Given the description of an element on the screen output the (x, y) to click on. 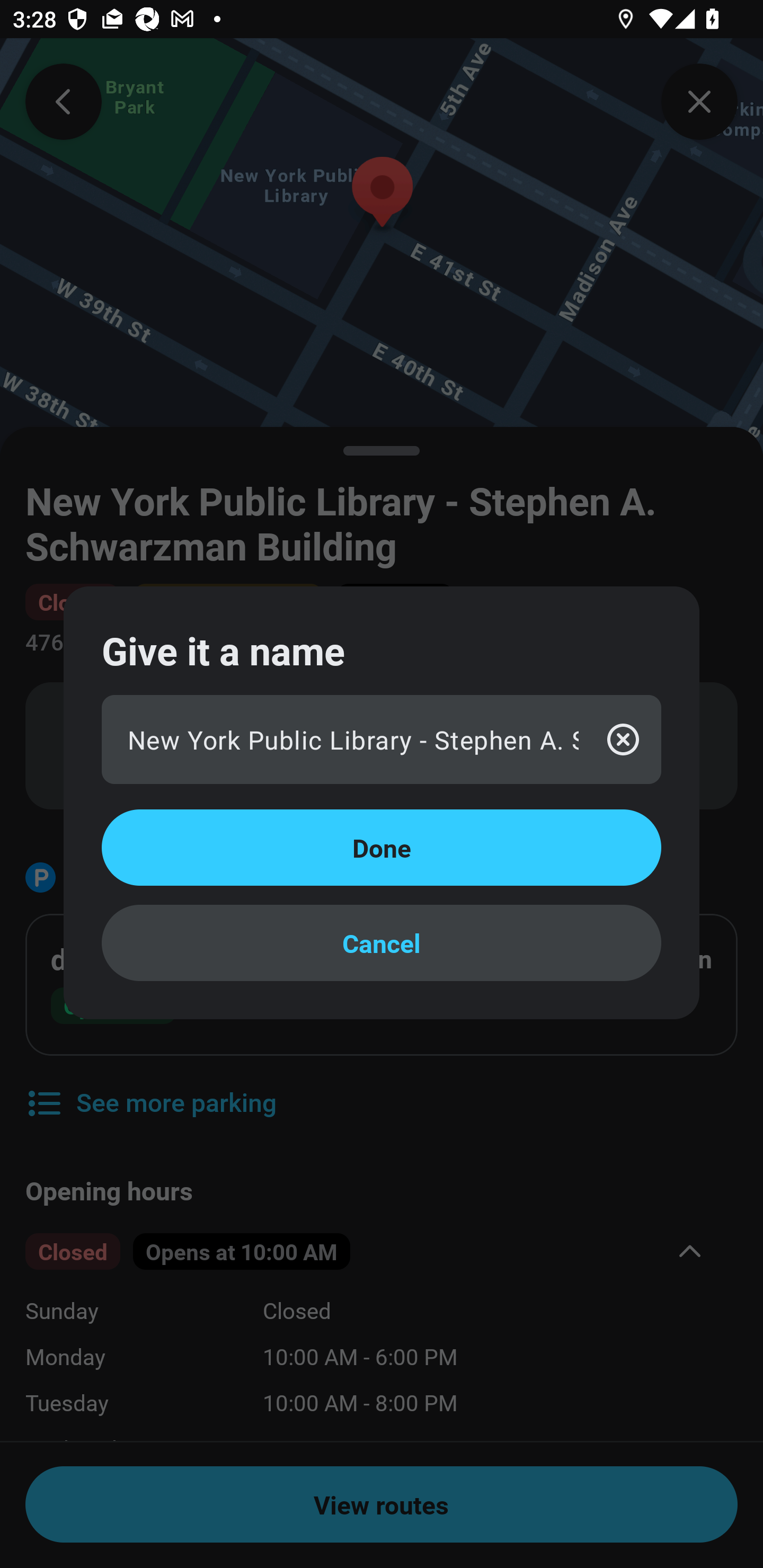
Done (381, 847)
Cancel (381, 942)
